Given the description of an element on the screen output the (x, y) to click on. 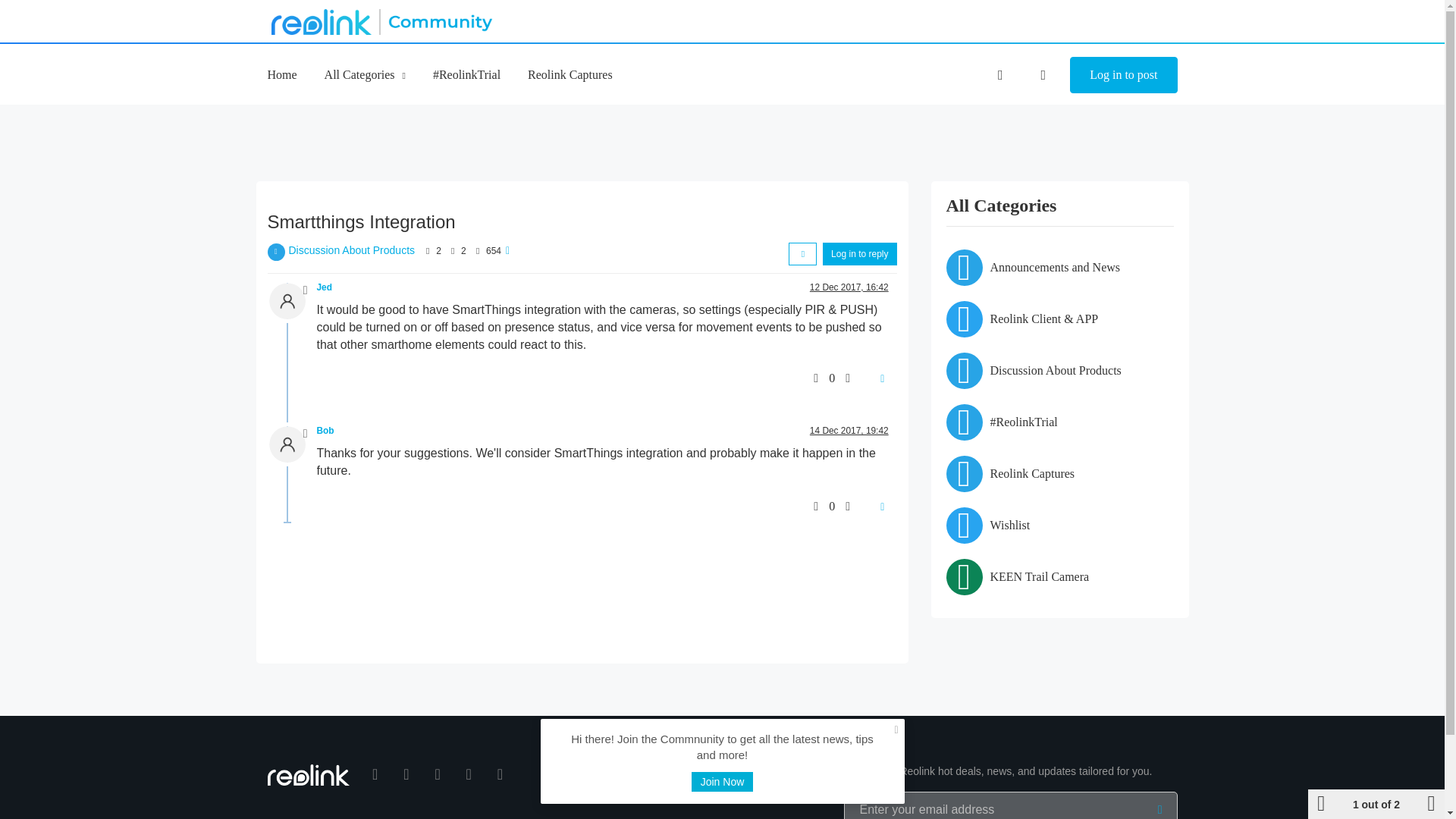
Posters (427, 250)
12 Dec 2017, 16:42 (848, 286)
Home (281, 74)
Log in to reply (859, 253)
Log in to post (1123, 75)
Posts (452, 250)
Reolink Captures (569, 74)
Jed (325, 286)
Views (477, 250)
12 Dec 2017, 16:42 (848, 286)
654 (493, 250)
Discussion About Products (351, 250)
All Categories (365, 74)
